Given the description of an element on the screen output the (x, y) to click on. 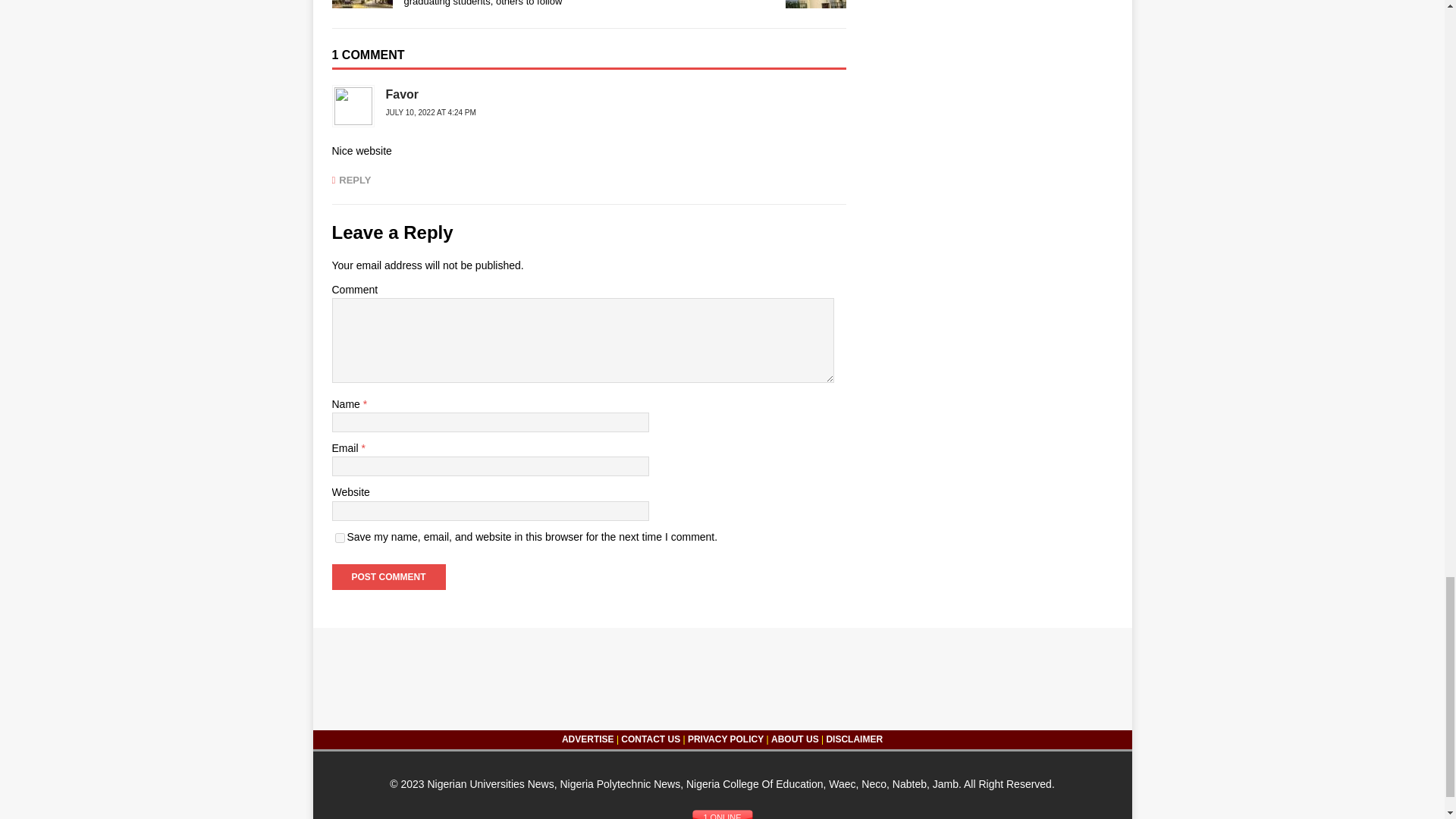
Post Comment (388, 576)
yes (339, 537)
Post Comment (388, 576)
REPLY (351, 179)
JULY 10, 2022 AT 4:24 PM (430, 112)
